Given the description of an element on the screen output the (x, y) to click on. 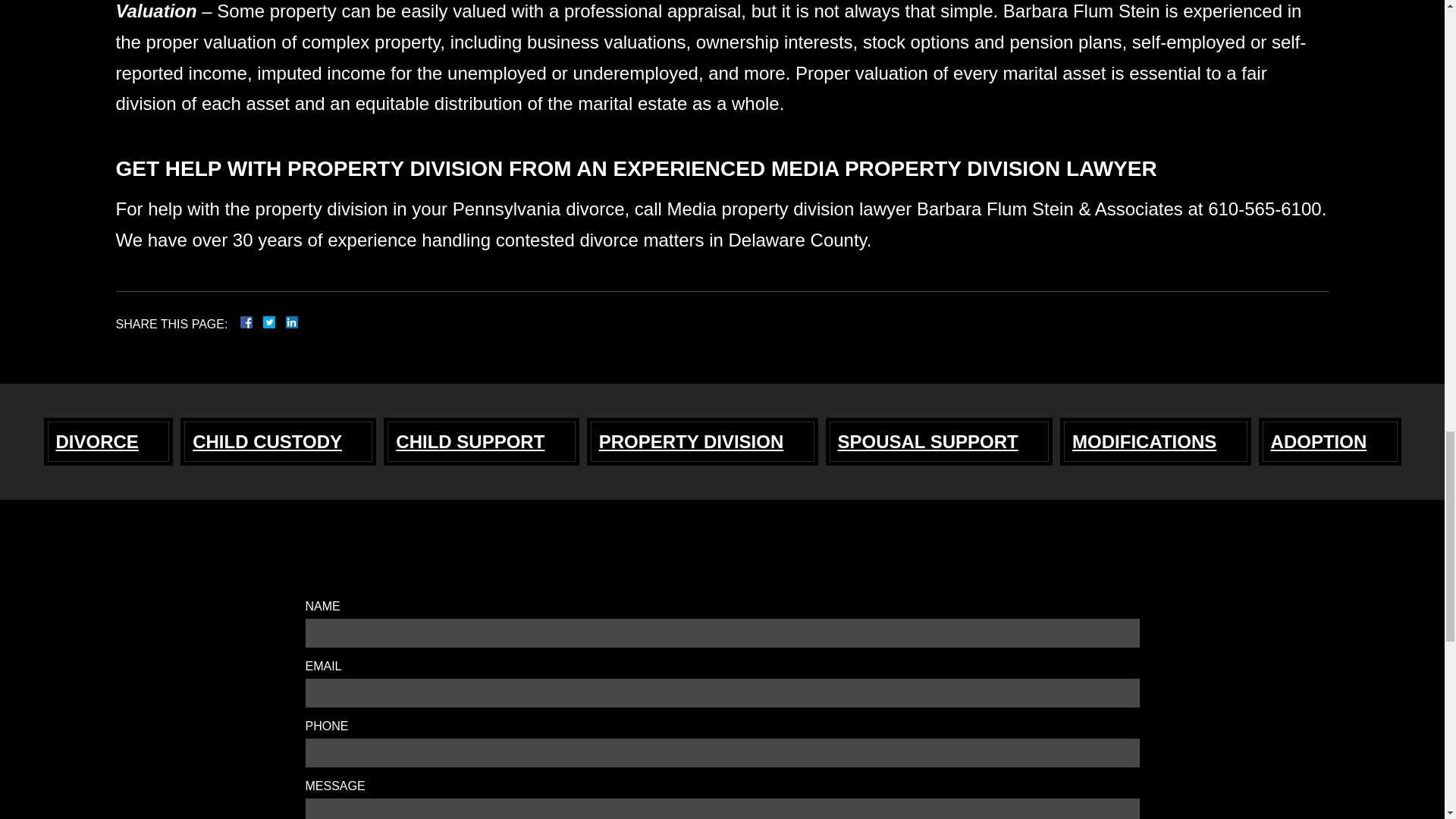
LinkedIn (286, 322)
Twitter (274, 322)
Facebook (264, 322)
CHILD SUPPORT (481, 441)
SPOUSAL SUPPORT (939, 441)
PROPERTY DIVISION (702, 441)
CHILD CUSTODY (278, 441)
DIVORCE (107, 441)
